Given the description of an element on the screen output the (x, y) to click on. 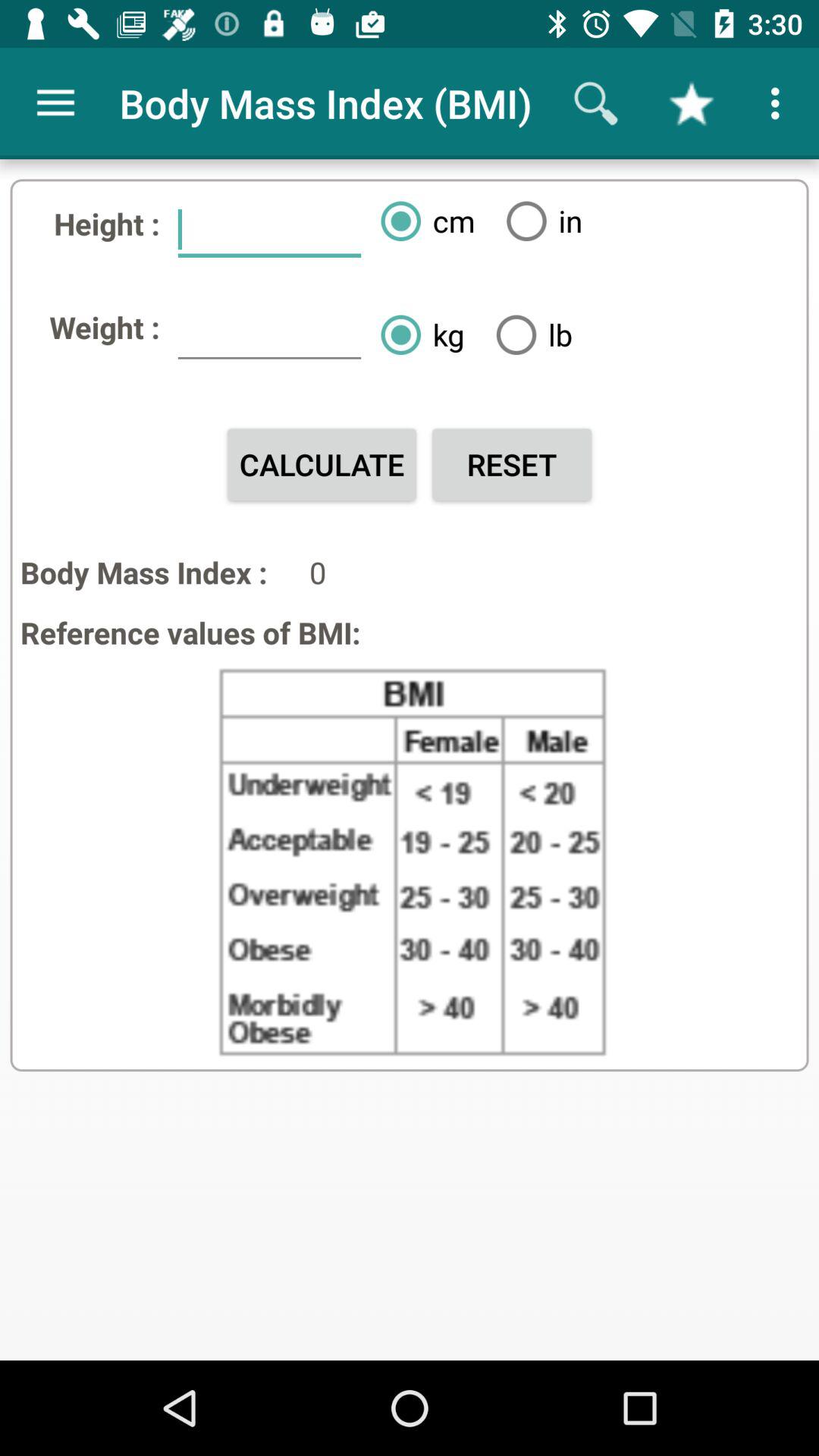
turn off the icon above reset icon (528, 334)
